Given the description of an element on the screen output the (x, y) to click on. 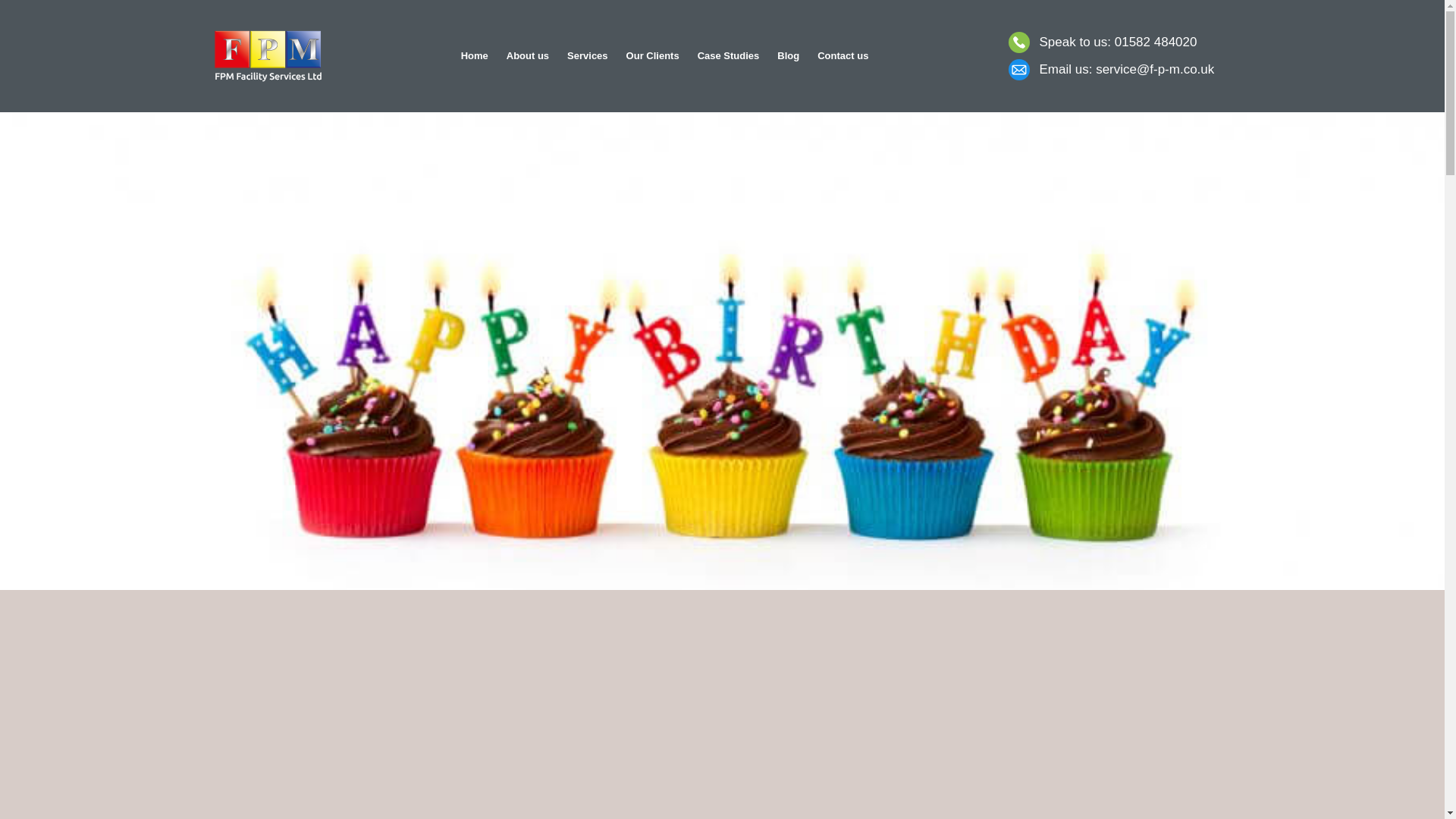
01582 484020 (1155, 42)
Services (587, 55)
Our Clients (652, 55)
Home (474, 55)
Blog (788, 55)
About us (527, 55)
Case Studies (728, 55)
Contact us (842, 55)
